Given the description of an element on the screen output the (x, y) to click on. 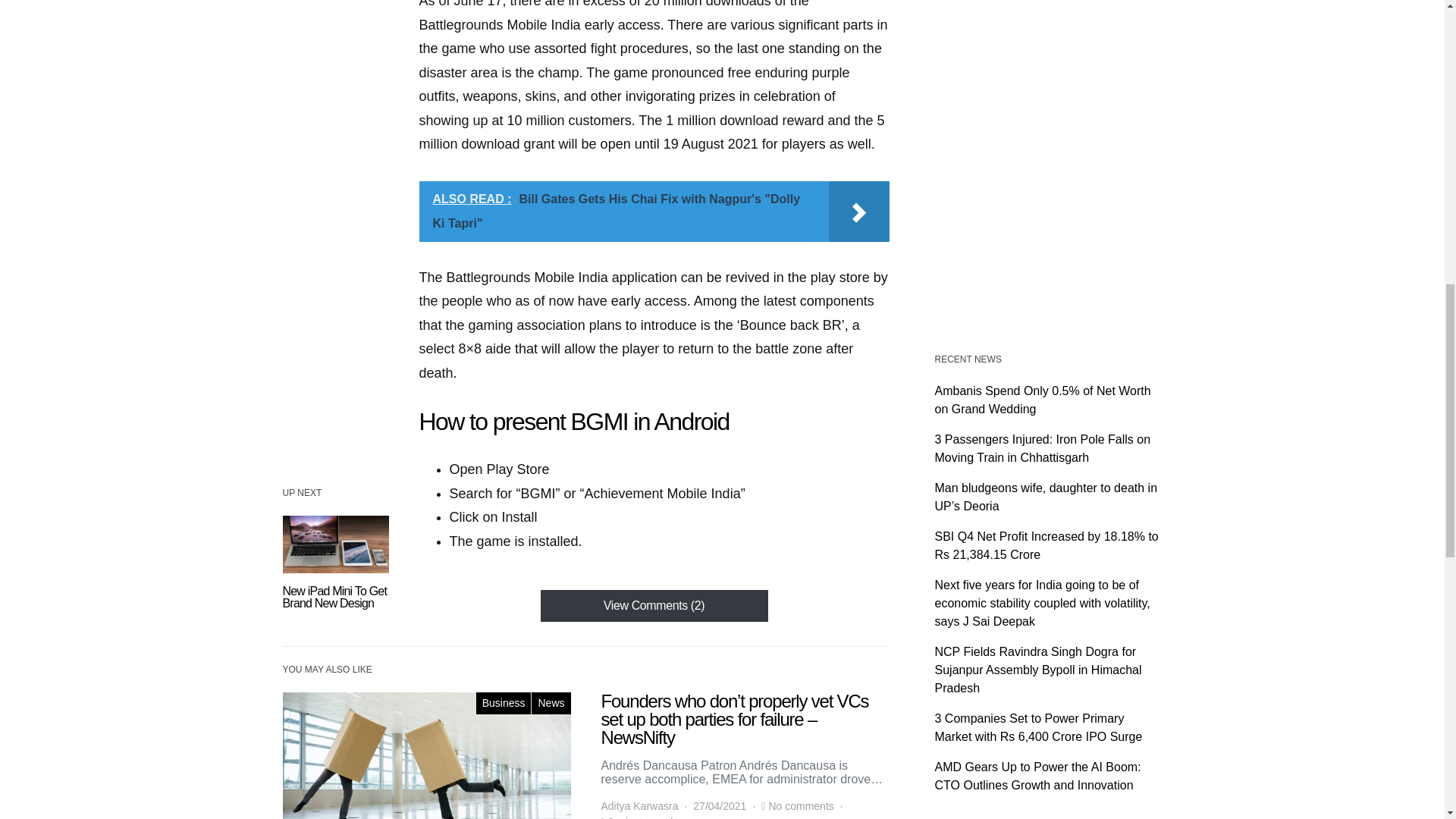
New iPad Mini To Get Brand New Design 2 (335, 544)
View all posts by Aditya Karwasra (638, 806)
